Given the description of an element on the screen output the (x, y) to click on. 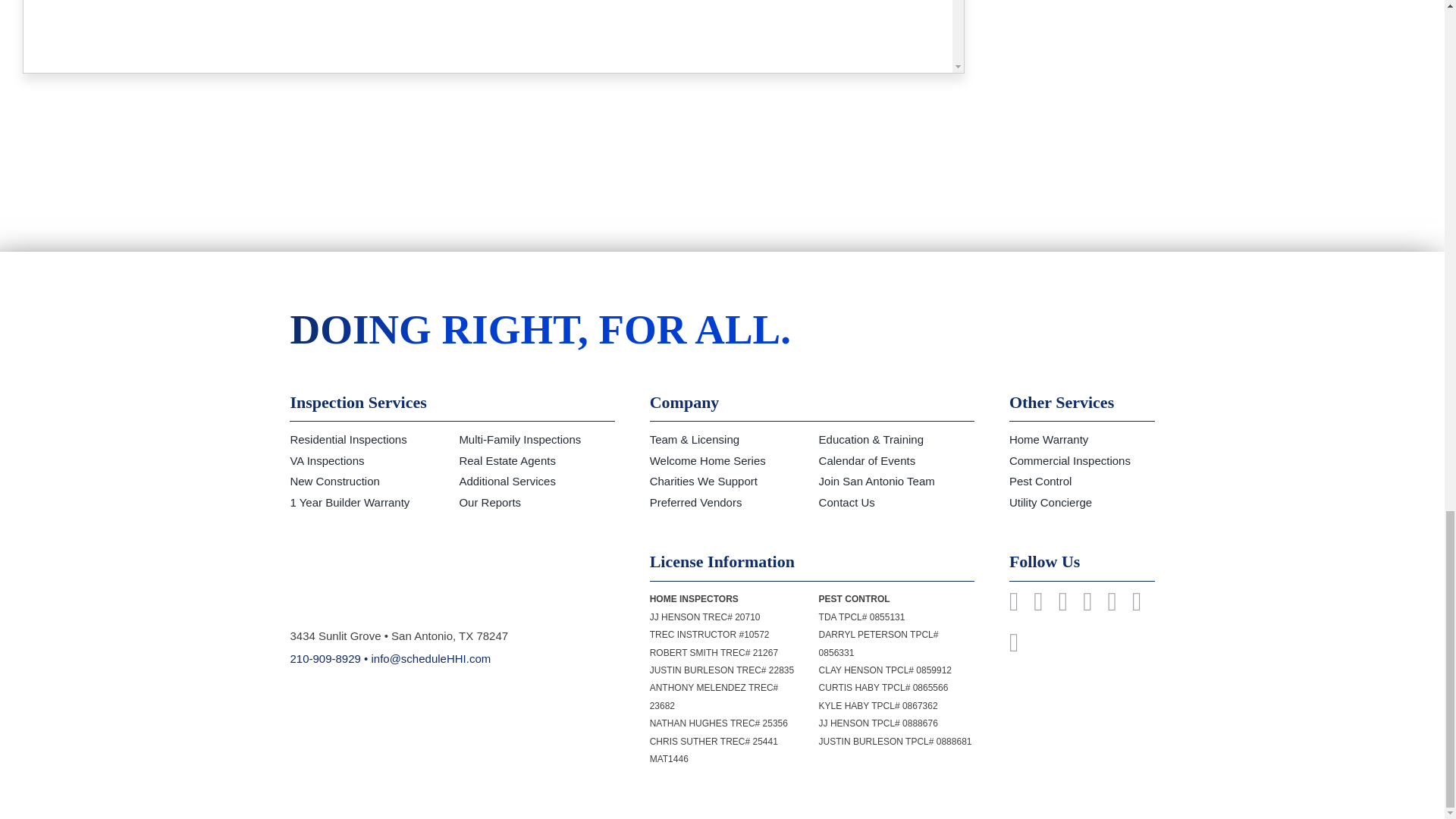
HHI Logo Veteran Operated (423, 580)
